Given the description of an element on the screen output the (x, y) to click on. 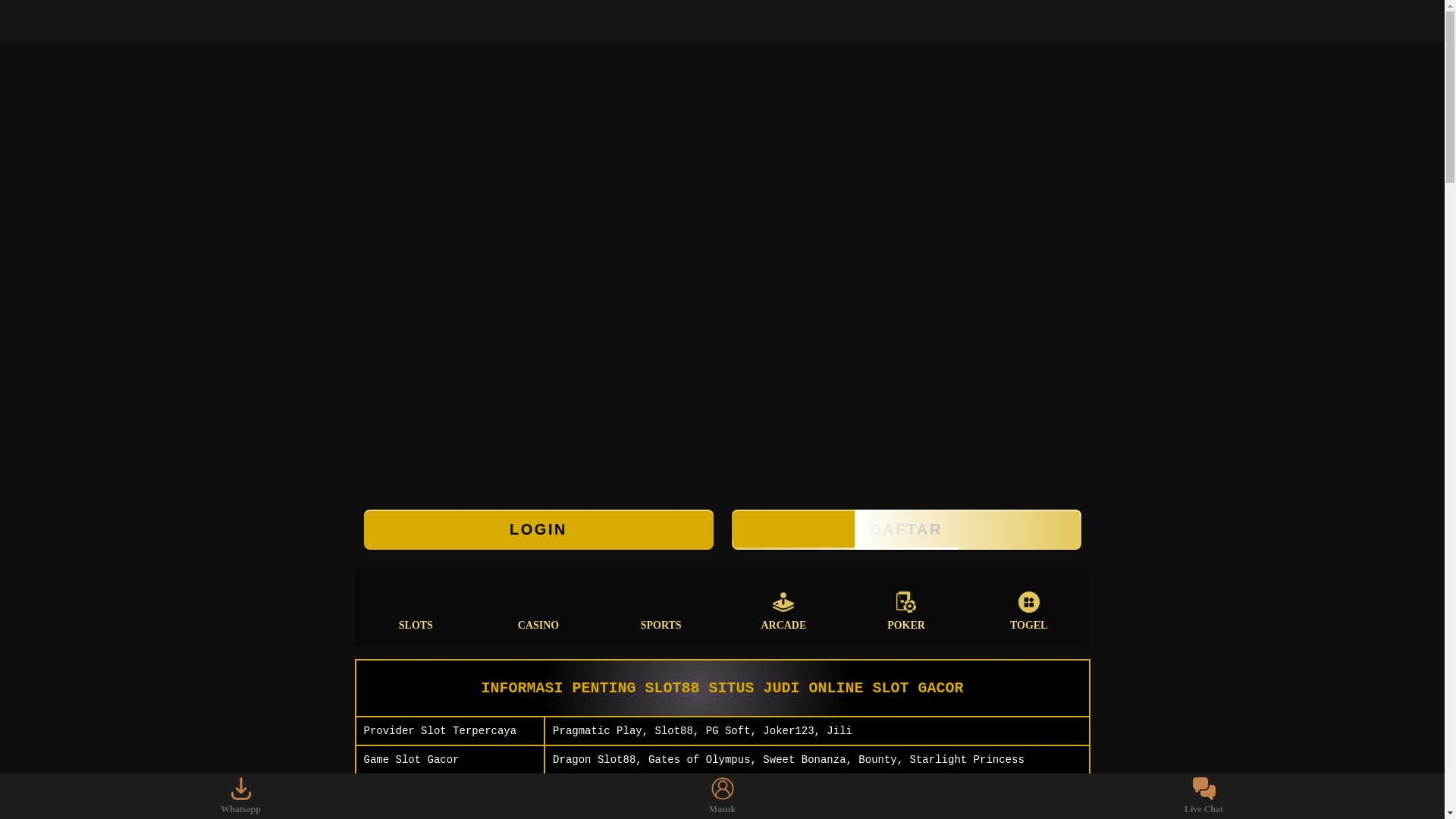
LOGIN Element type: text (538, 529)
ARCADE Element type: text (783, 607)
Masuk Element type: text (721, 796)
Previous item in carousel (1 of 1) Element type: hover (12, 271)
SLOTS Element type: text (415, 607)
POKER Element type: text (905, 607)
SPORTS Element type: text (660, 607)
Next item in carousel (1 of 1) Element type: hover (1431, 271)
Slot Online Element type: hover (722, 271)
Live Chat Element type: text (1203, 796)
DAFTAR Element type: text (905, 529)
TOGEL Element type: text (1028, 607)
CASINO Element type: text (538, 607)
Whatsapp Element type: text (240, 796)
